Given the description of an element on the screen output the (x, y) to click on. 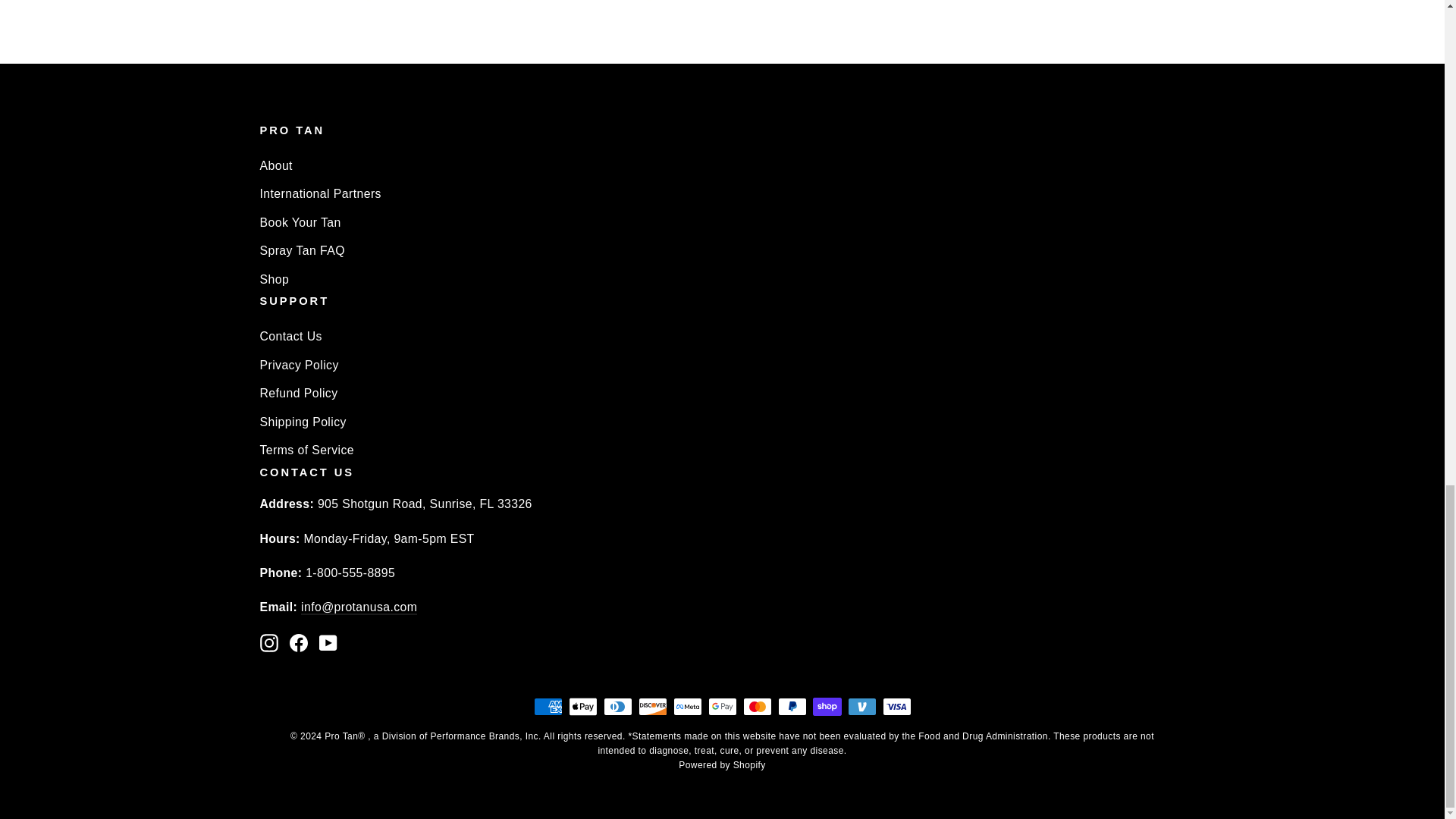
Shop Pay (826, 706)
American Express (548, 706)
Discover (652, 706)
Apple Pay (582, 706)
Meta Pay (686, 706)
PayPal (791, 706)
Mastercard (756, 706)
Venmo (861, 706)
Diners Club (617, 706)
instagram (268, 642)
